Given the description of an element on the screen output the (x, y) to click on. 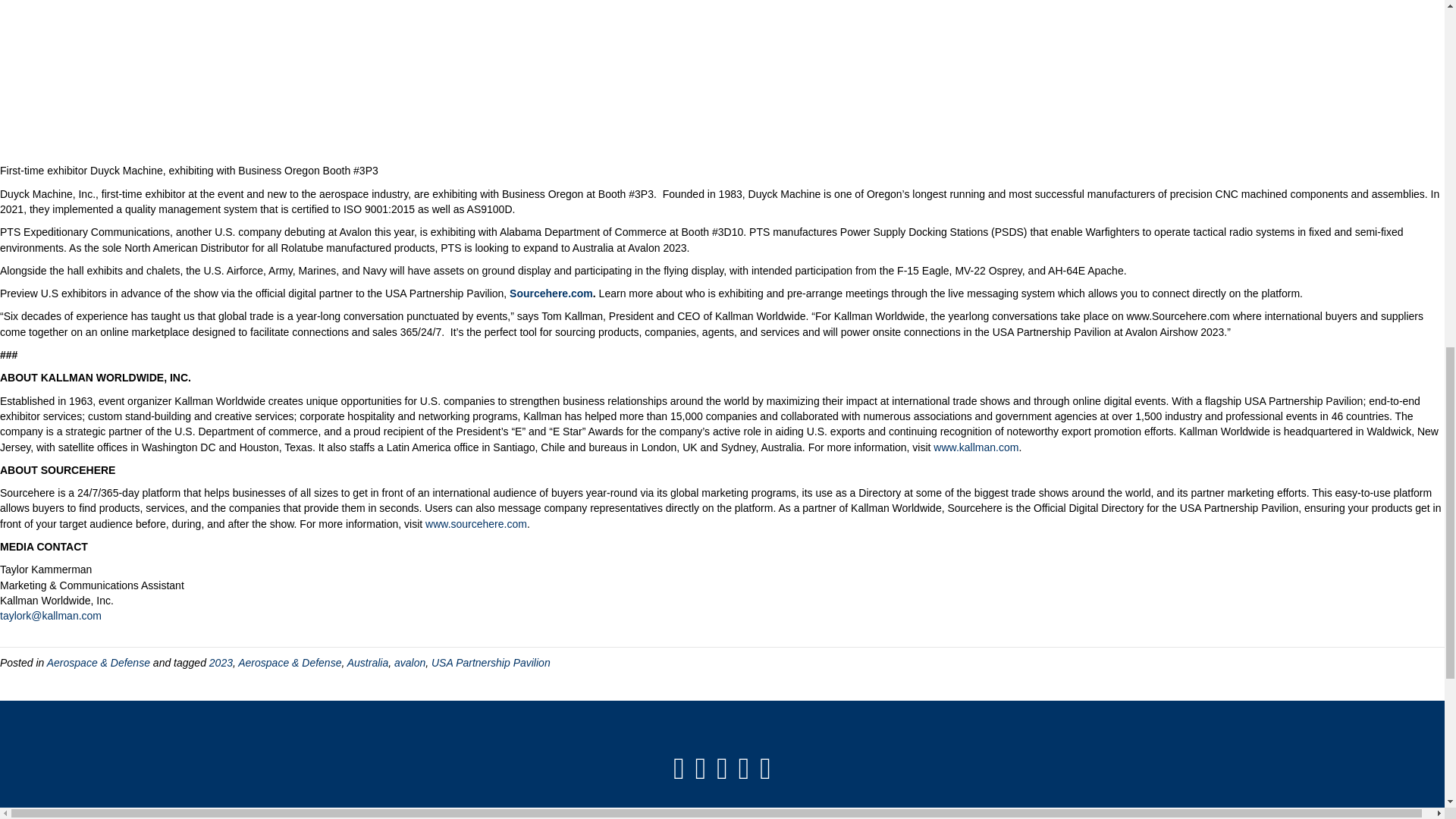
Sourcehere.com (550, 293)
www.kallman.com (975, 447)
www.sourcehere.com (476, 523)
